Given the description of an element on the screen output the (x, y) to click on. 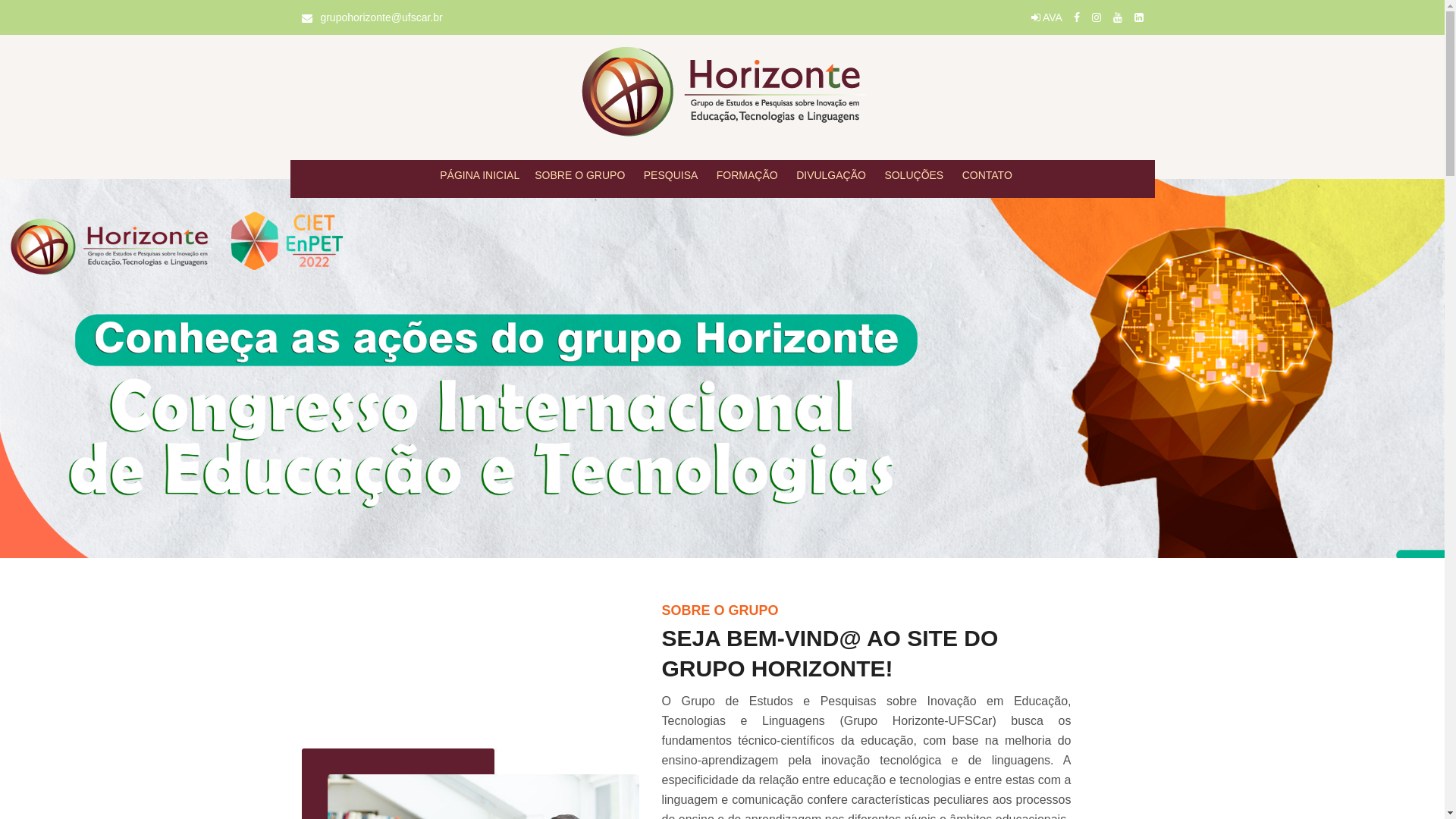
AVA Element type: text (1046, 17)
SOBRE O GRUPO Element type: text (579, 175)
grupohorizonte@ufscar.br Element type: text (381, 17)
CONTATO Element type: text (987, 175)
PESQUISA Element type: text (670, 175)
